Given the description of an element on the screen output the (x, y) to click on. 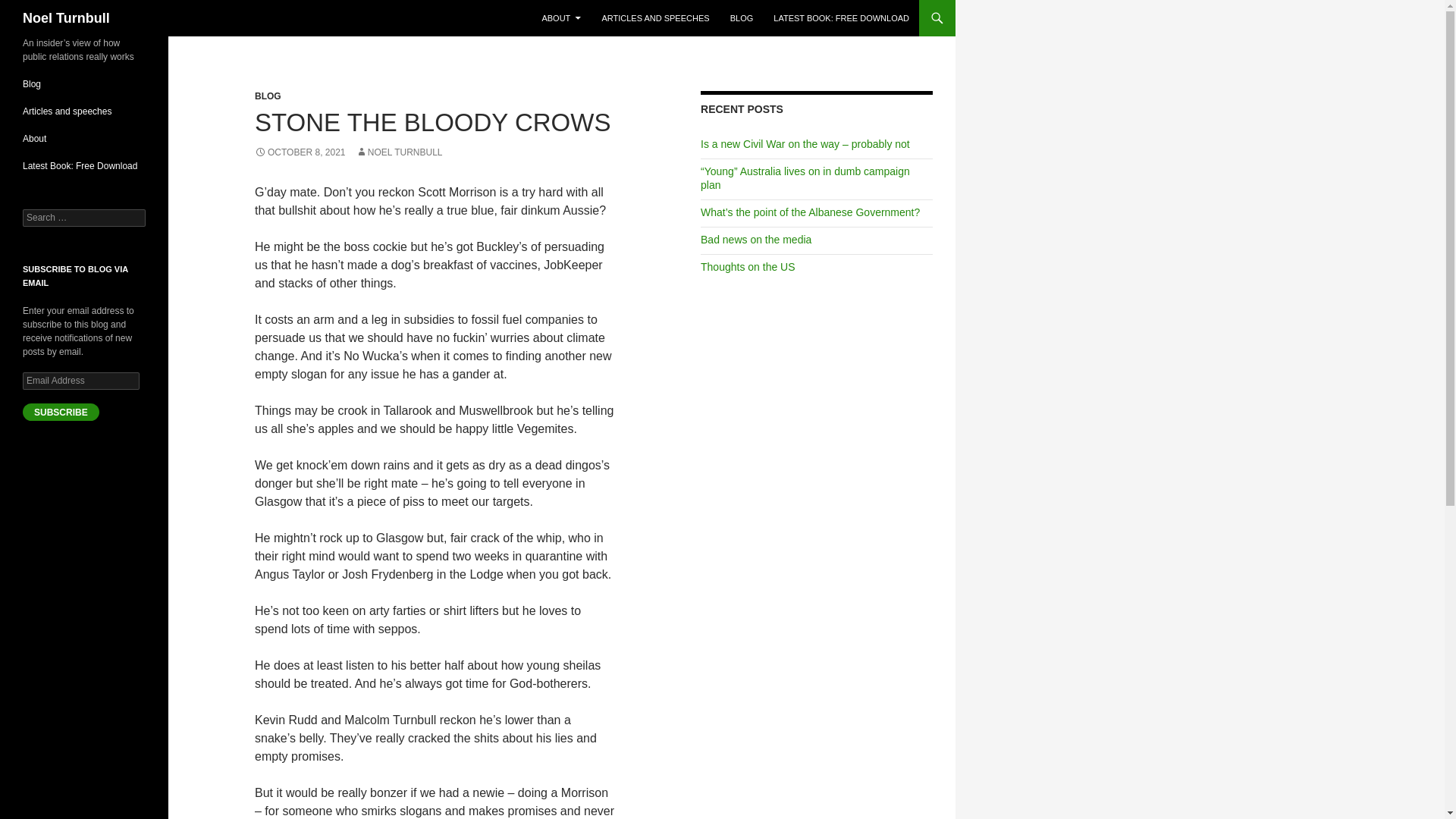
SUBSCRIBE (61, 411)
BLOG (267, 95)
Articles and speeches (67, 111)
Blog (31, 83)
OCTOBER 8, 2021 (300, 152)
About (34, 138)
Bad news on the media (755, 239)
Search (30, 8)
Noel Turnbull (66, 18)
ABOUT (560, 18)
